Given the description of an element on the screen output the (x, y) to click on. 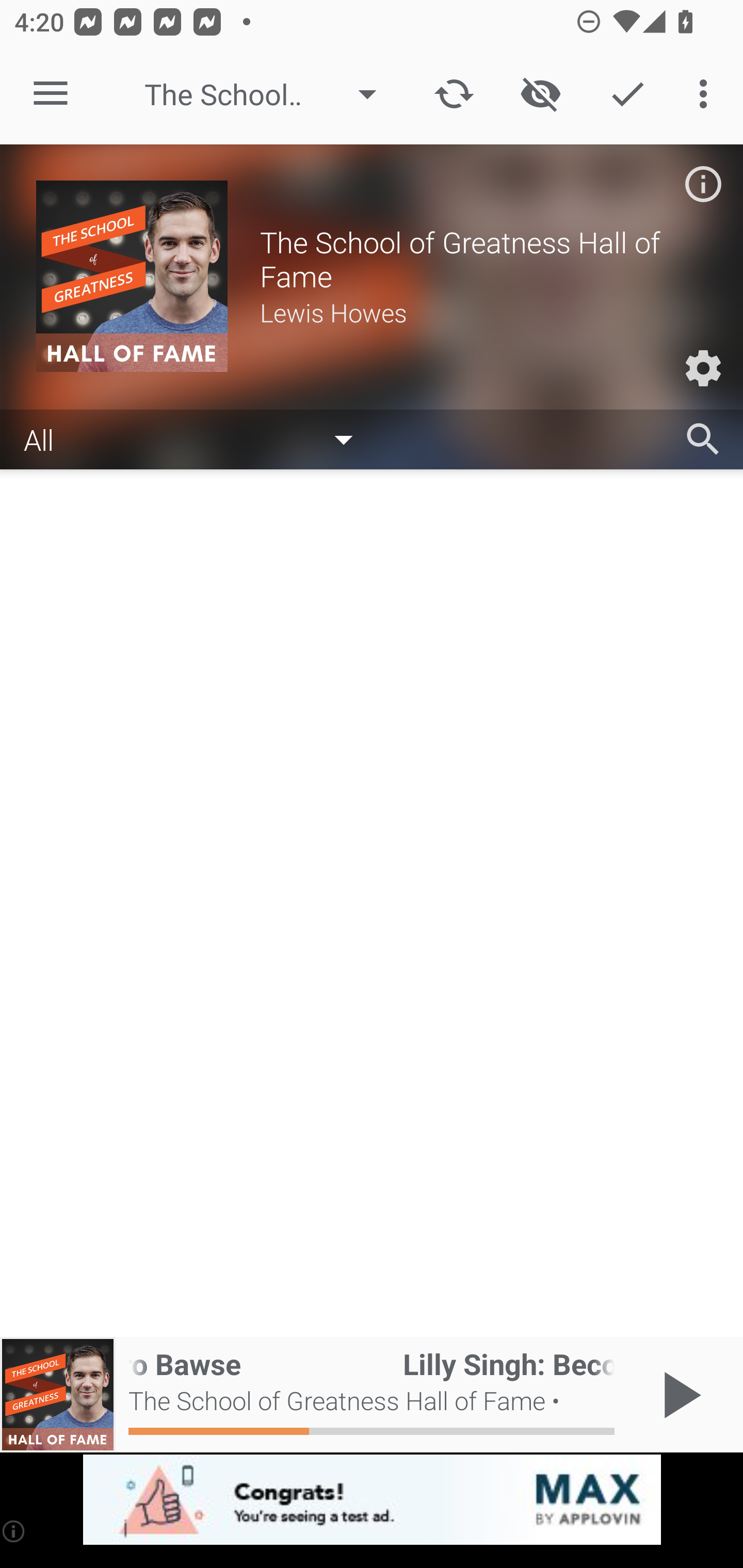
Open navigation sidebar (50, 93)
Update (453, 93)
Show / Hide played content (540, 93)
Action Mode (626, 93)
More options (706, 93)
The School of Greatness Hall of Fame (270, 94)
Podcast description (703, 184)
Lewis Howes (483, 311)
Custom Settings (703, 368)
Search (703, 439)
All (197, 438)
Play / Pause (677, 1394)
app-monetization (371, 1500)
(i) (14, 1531)
